Given the description of an element on the screen output the (x, y) to click on. 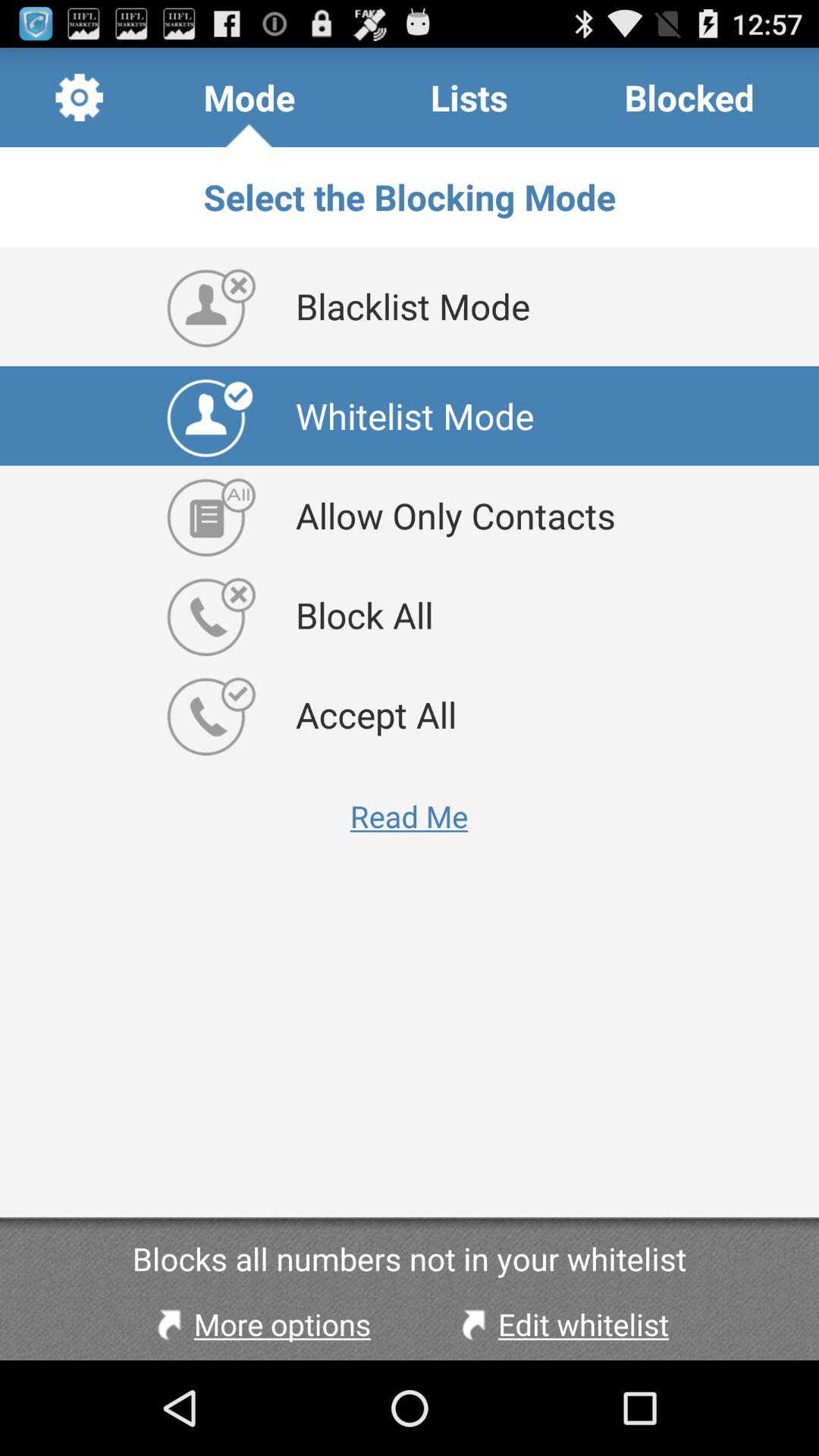
turn on blocked item (689, 97)
